Given the description of an element on the screen output the (x, y) to click on. 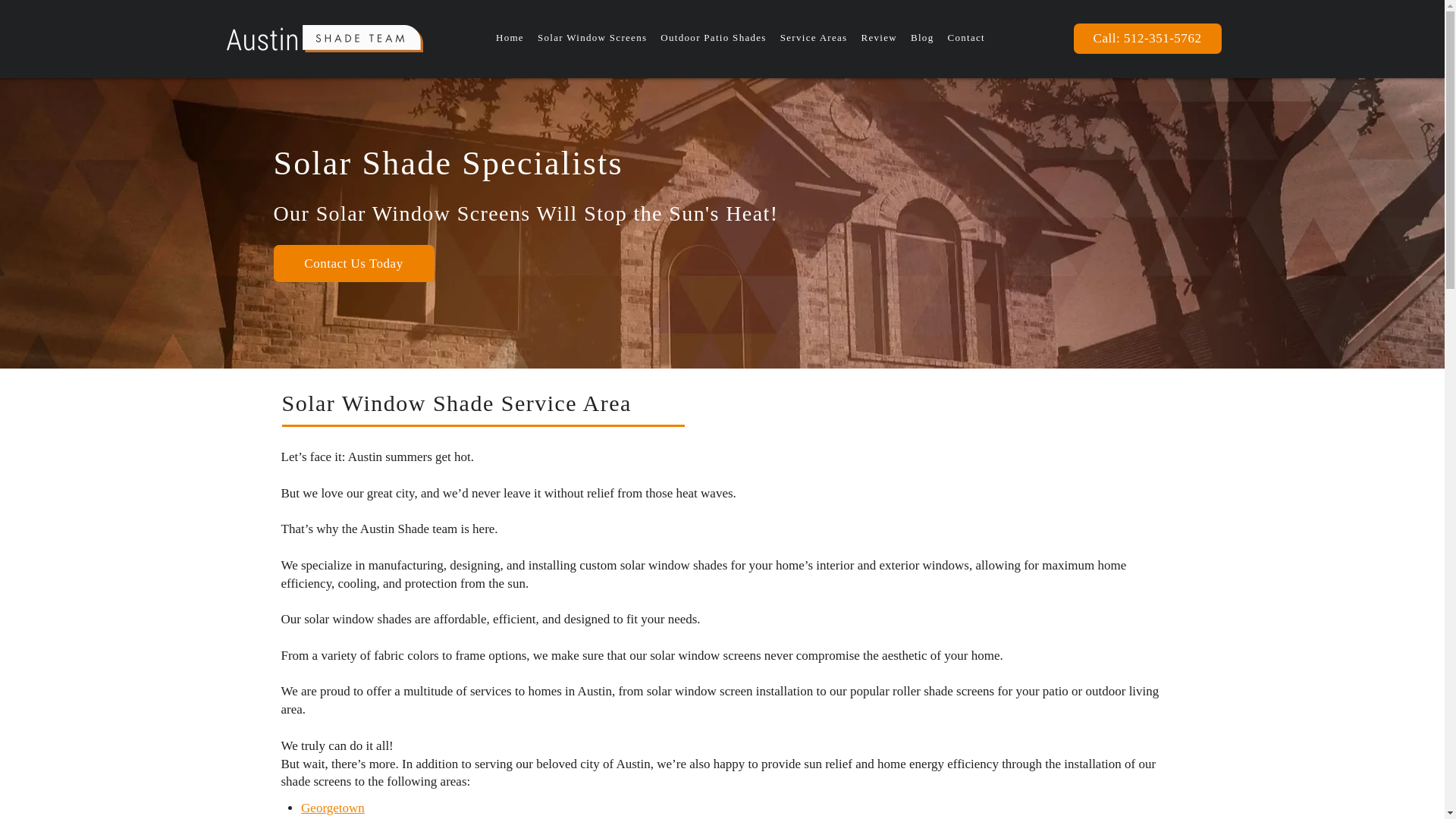
Solar Window Screens (591, 38)
Home (509, 38)
Contact Us Today (353, 262)
Blog (921, 38)
Georgetown (333, 807)
Contact (965, 38)
Outdoor Patio Shades (712, 38)
Service Areas (813, 38)
Call: 512-351-5762 (1147, 38)
